Given the description of an element on the screen output the (x, y) to click on. 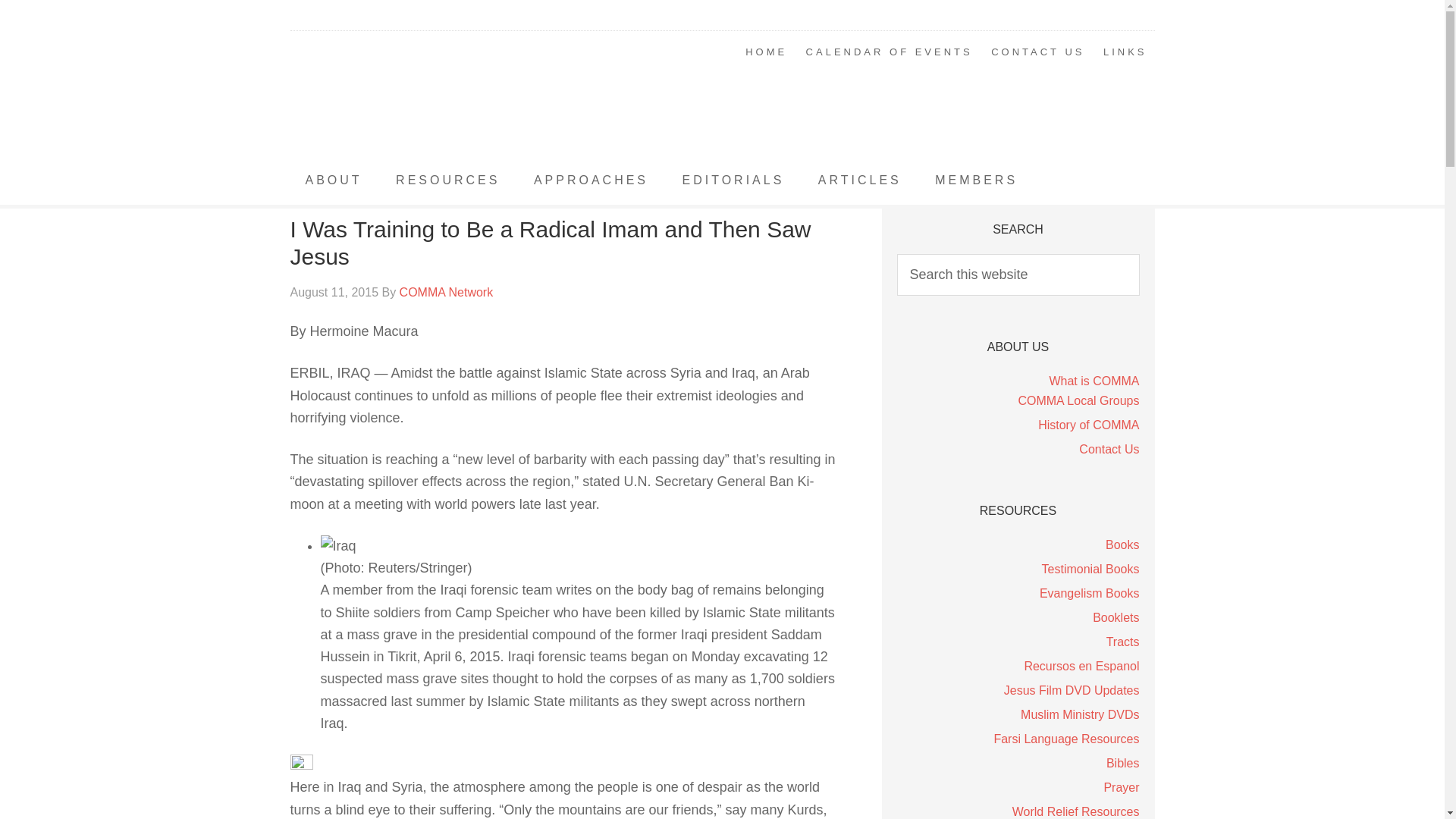
ABOUT (333, 180)
Iraq (337, 546)
COMMA Network (410, 93)
About (333, 180)
CONTACT US (1038, 51)
APPROACHES (590, 180)
RESOURCES (447, 180)
LINKS (1125, 51)
home (766, 51)
CALENDAR OF EVENTS (888, 51)
HOME (766, 51)
